Given the description of an element on the screen output the (x, y) to click on. 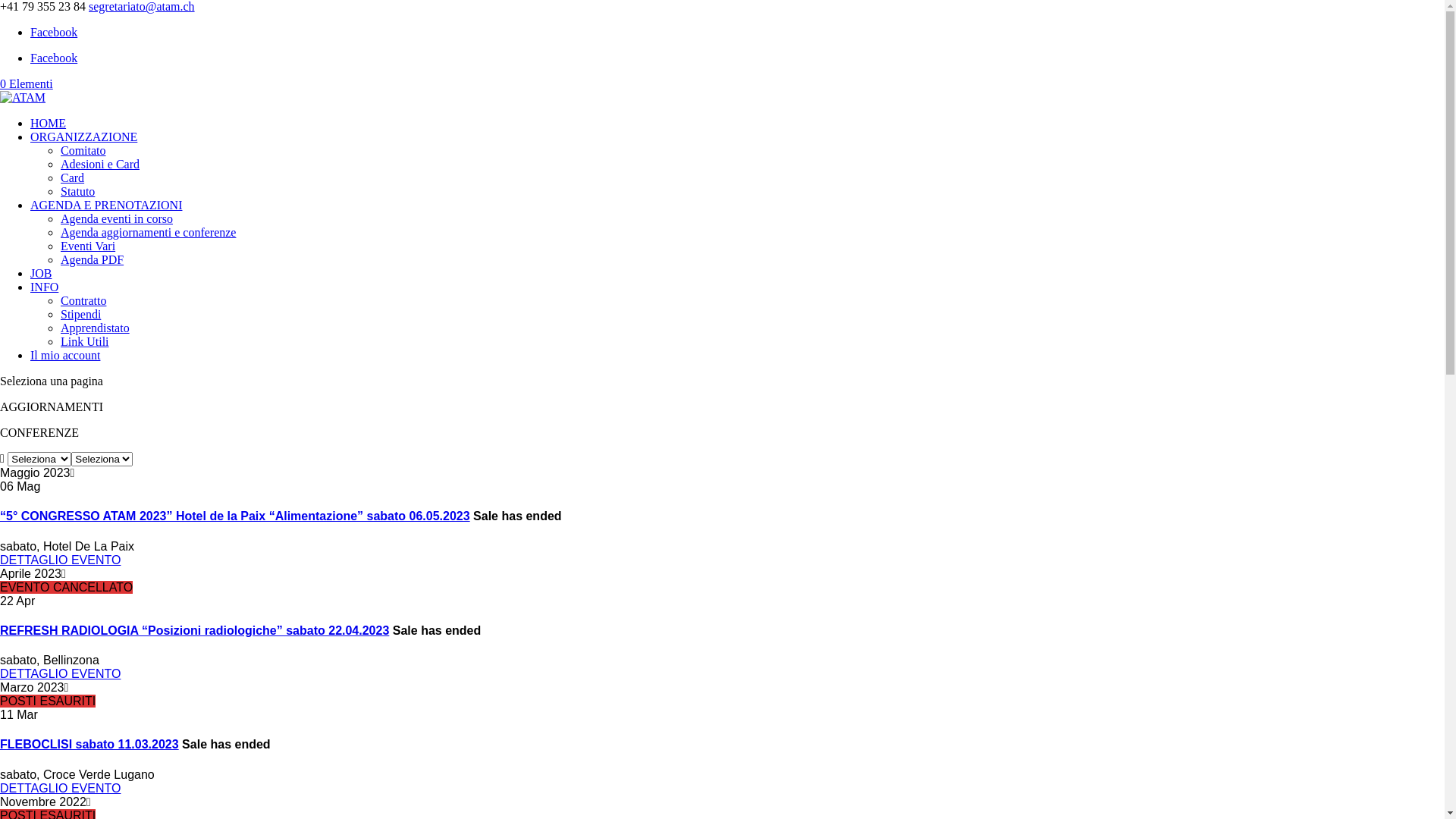
Agenda aggiornamenti e conferenze Element type: text (147, 231)
HOME Element type: text (47, 122)
Link Utili Element type: text (84, 341)
JOB Element type: text (40, 272)
DETTAGLIO EVENTO Element type: text (60, 673)
Adesioni e Card Element type: text (99, 163)
Apprendistato Element type: text (94, 327)
DETTAGLIO EVENTO Element type: text (60, 559)
Facebook Element type: text (53, 57)
Eventi Vari Element type: text (87, 245)
DETTAGLIO EVENTO Element type: text (60, 787)
segretariato@atam.ch Element type: text (141, 6)
INFO Element type: text (44, 286)
Il mio account Element type: text (65, 354)
ORGANIZZAZIONE Element type: text (83, 136)
AGENDA E PRENOTAZIONI Element type: text (106, 204)
Agenda eventi in corso Element type: text (116, 218)
Card Element type: text (72, 177)
Agenda PDF Element type: text (91, 259)
Stipendi Element type: text (80, 313)
Contratto Element type: text (83, 300)
Statuto Element type: text (77, 191)
Comitato Element type: text (83, 150)
Facebook Element type: text (53, 31)
0 Elementi Element type: text (26, 83)
FLEBOCLISI sabato 11.03.2023 Element type: text (89, 743)
